Given the description of an element on the screen output the (x, y) to click on. 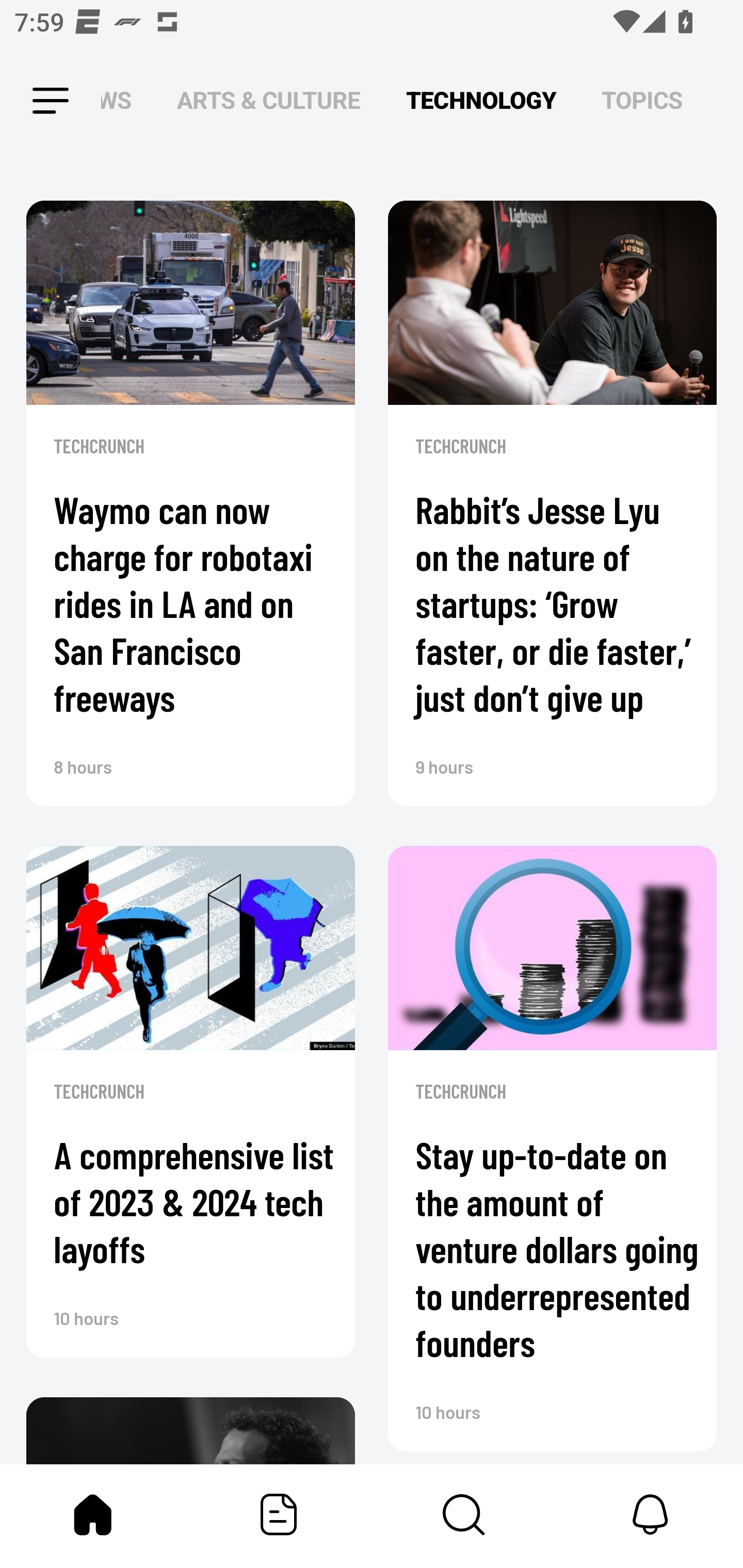
NEWS (121, 100)
ARTS & CULTURE (268, 100)
TOPICS (641, 100)
Featured (278, 1514)
Content Store (464, 1514)
Notifications (650, 1514)
